Given the description of an element on the screen output the (x, y) to click on. 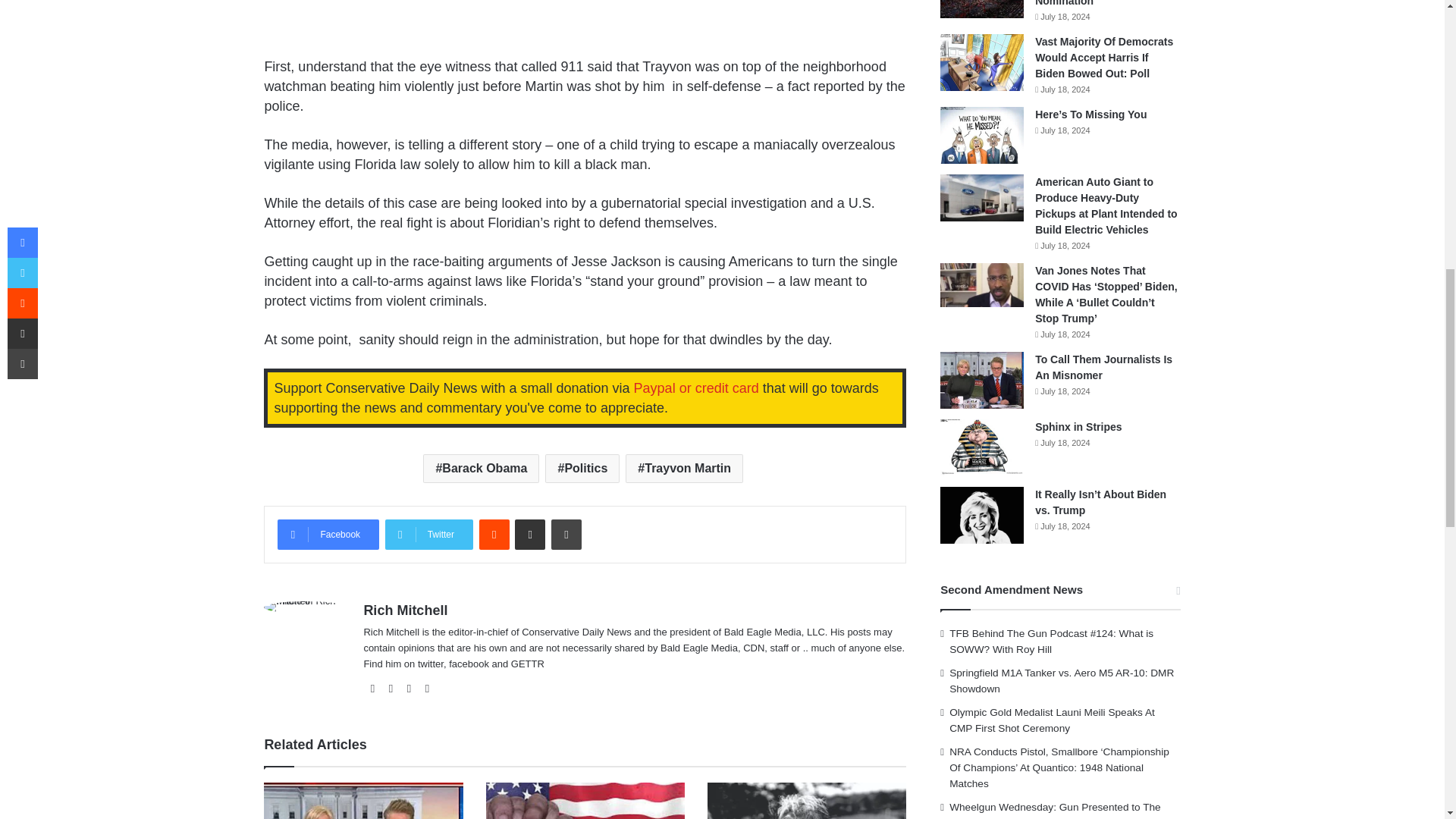
Facebook (328, 534)
Twitter (429, 534)
Reddit (494, 534)
Advertisement (584, 26)
